Given the description of an element on the screen output the (x, y) to click on. 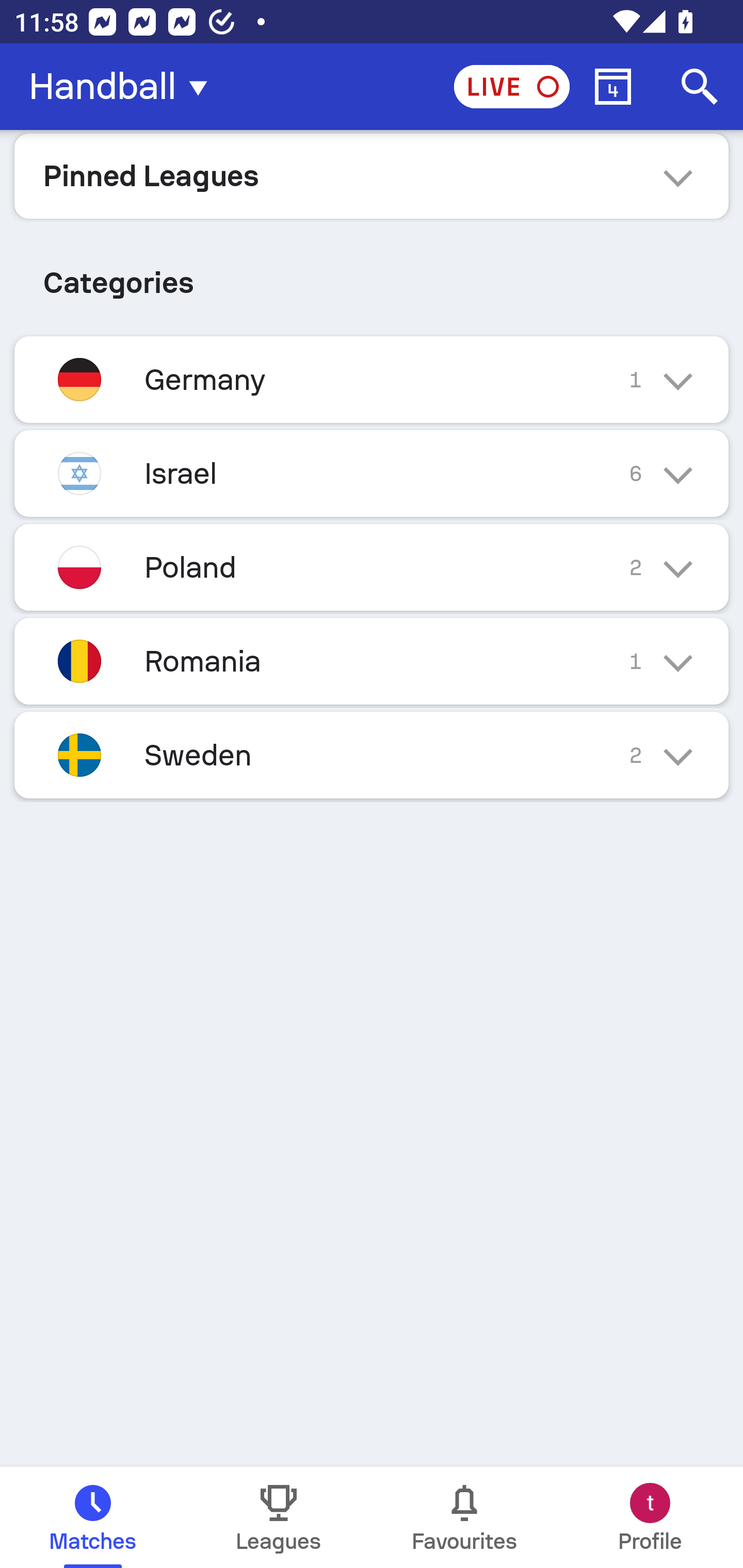
Handball (124, 86)
Calendar (612, 86)
Search (699, 86)
Pinned Leagues (371, 175)
Categories (371, 275)
Germany 1 (371, 379)
Israel 6 (371, 473)
Poland 2 (371, 566)
Romania 1 (371, 660)
Sweden 2 (371, 754)
Leagues (278, 1517)
Favourites (464, 1517)
Profile (650, 1517)
